Given the description of an element on the screen output the (x, y) to click on. 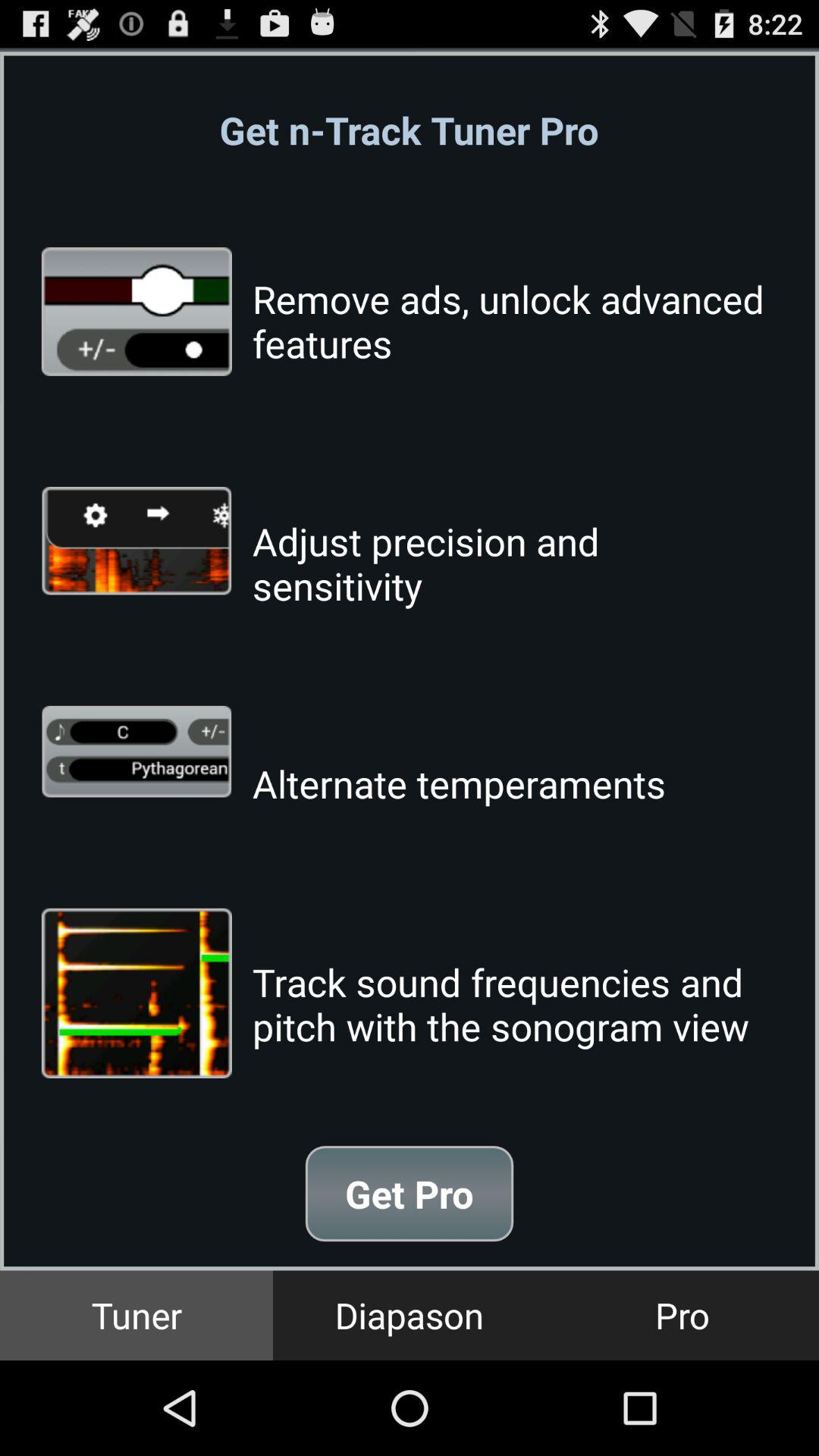
swipe until diapason button (409, 1315)
